Given the description of an element on the screen output the (x, y) to click on. 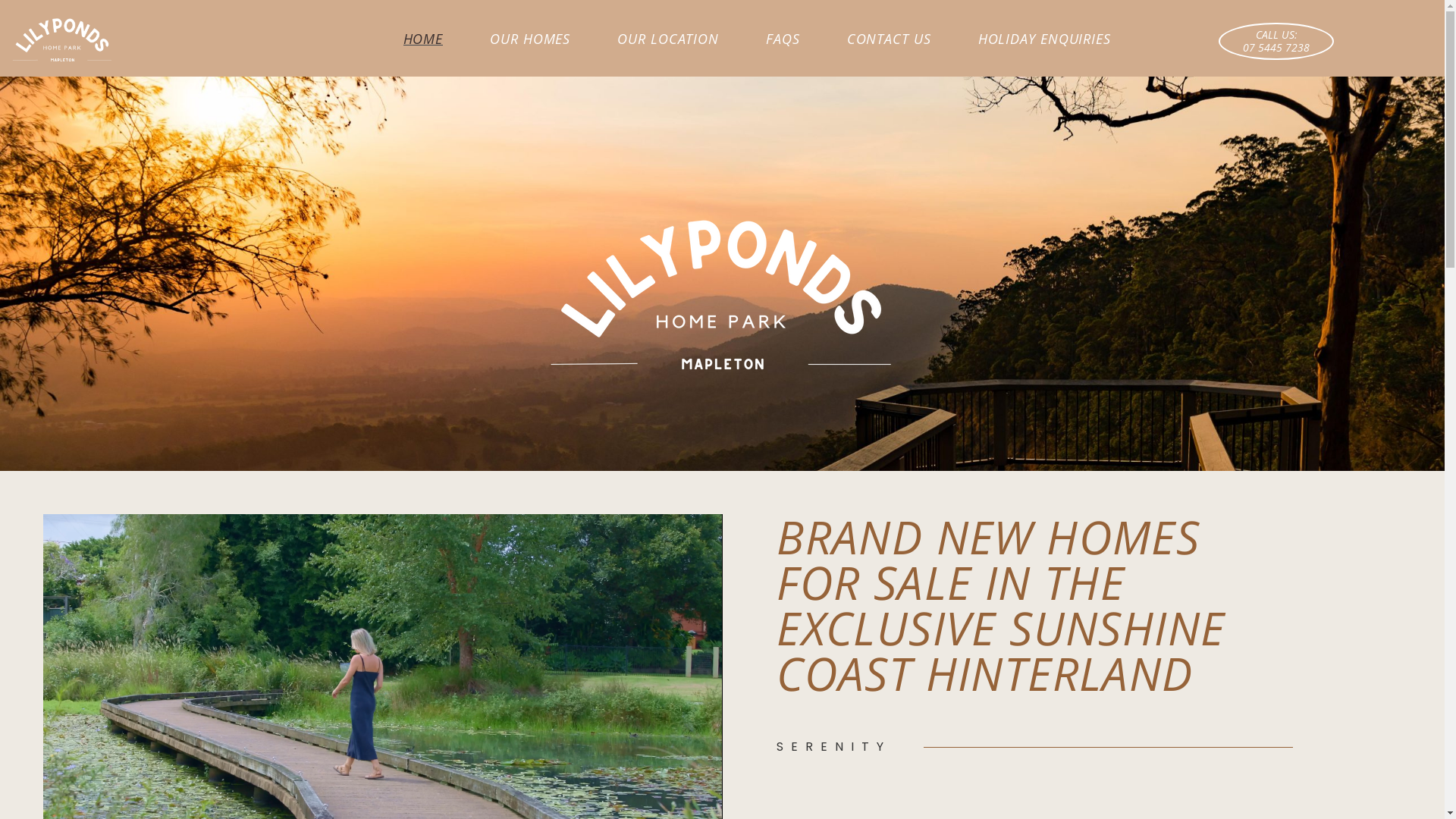
OUR LOCATION Element type: text (667, 38)
HOME Element type: text (423, 38)
FAQS Element type: text (782, 38)
CALL US:
07 5445 7238 Element type: text (1275, 41)
CONTACT US Element type: text (889, 38)
HOLIDAY ENQUIRIES Element type: text (1044, 38)
OUR HOMES Element type: text (529, 38)
